Given the description of an element on the screen output the (x, y) to click on. 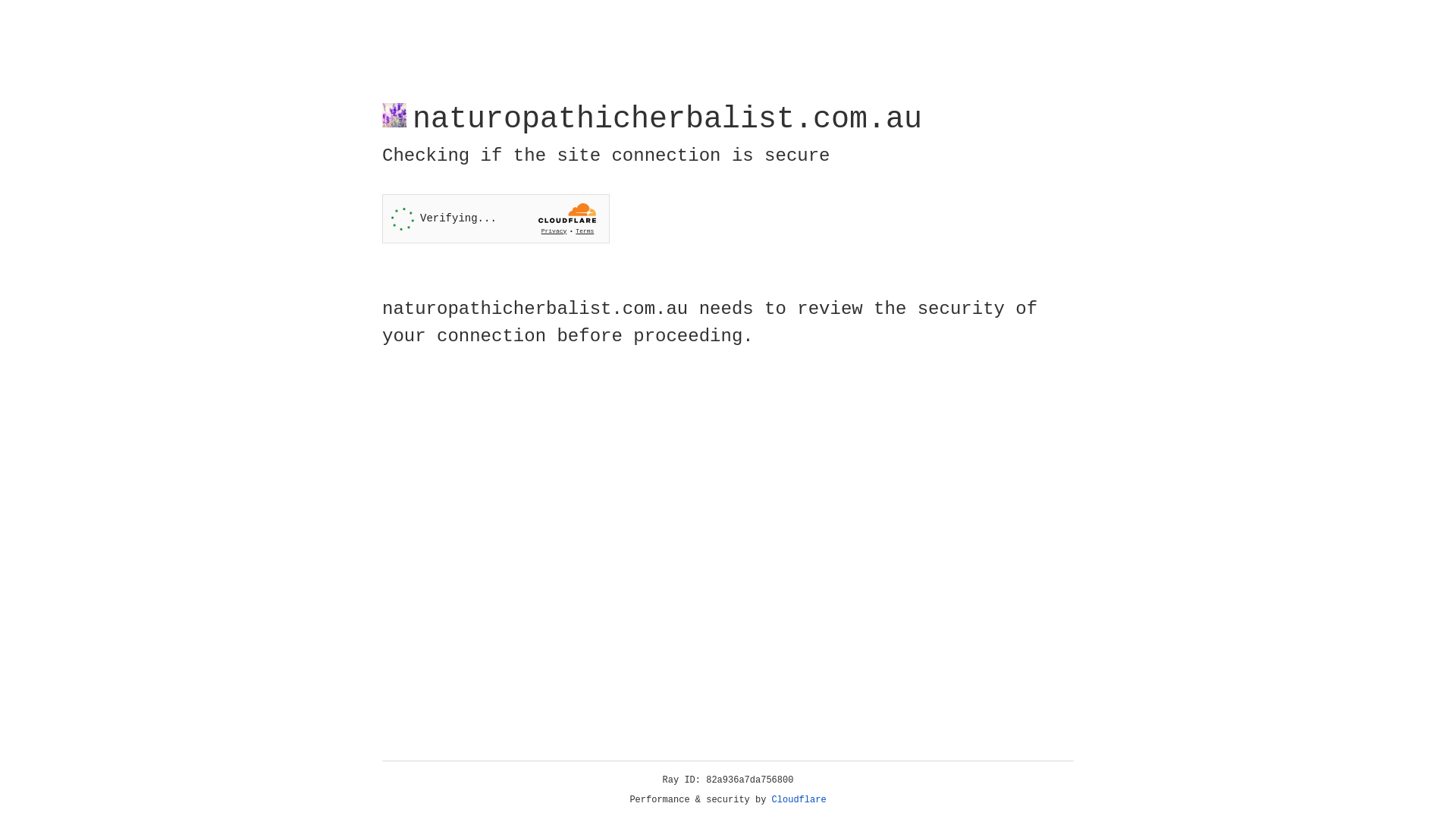
Widget containing a Cloudflare security challenge Element type: hover (495, 218)
Cloudflare Element type: text (798, 799)
